Given the description of an element on the screen output the (x, y) to click on. 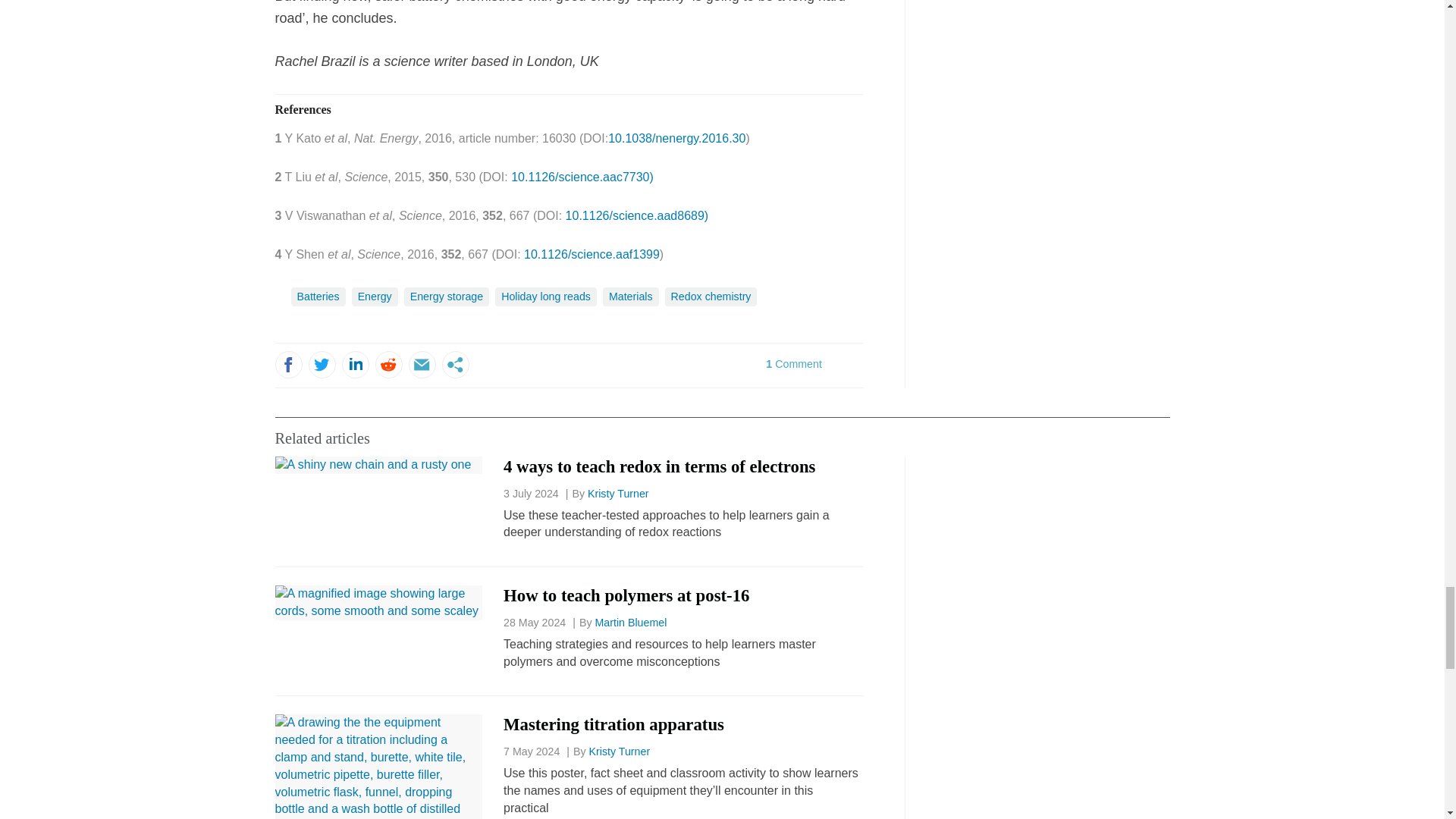
1 Comment (812, 373)
Share this on Facebook (288, 364)
More share options (454, 364)
Share this by email (421, 364)
Share this on Reddit (387, 364)
Share this on LinkedIn (354, 364)
Share this on Twitter (320, 364)
